Given the description of an element on the screen output the (x, y) to click on. 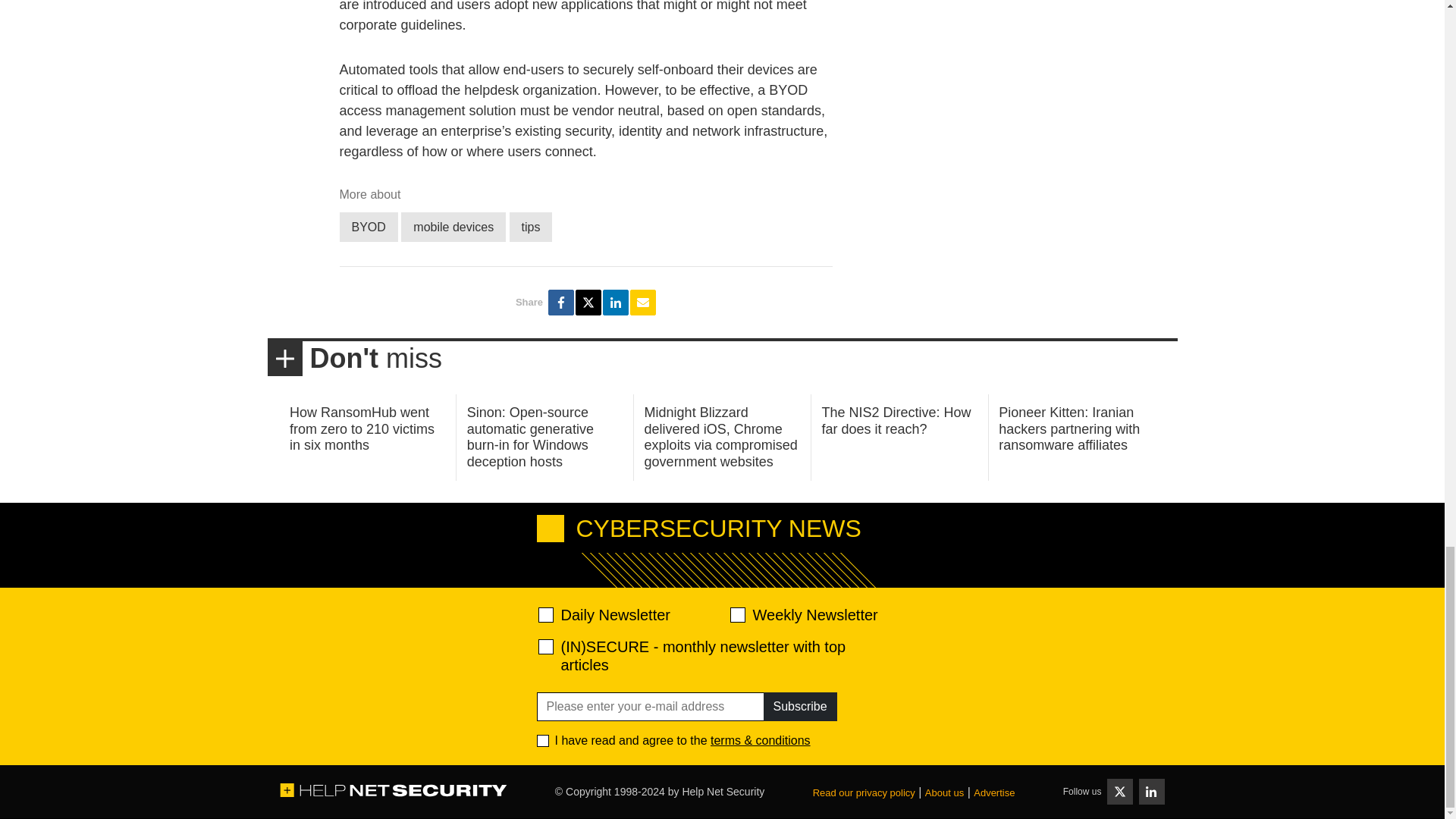
How RansomHub went from zero to 210 victims in six months (361, 428)
tips (531, 226)
Share The next step in BYOD security on Twitter (588, 302)
BYOD (368, 226)
The NIS2 Directive: How far does it reach? (896, 420)
1 (542, 740)
Share The next step in BYOD security on Facebook (560, 302)
BYOD (368, 226)
tips (531, 226)
